Given the description of an element on the screen output the (x, y) to click on. 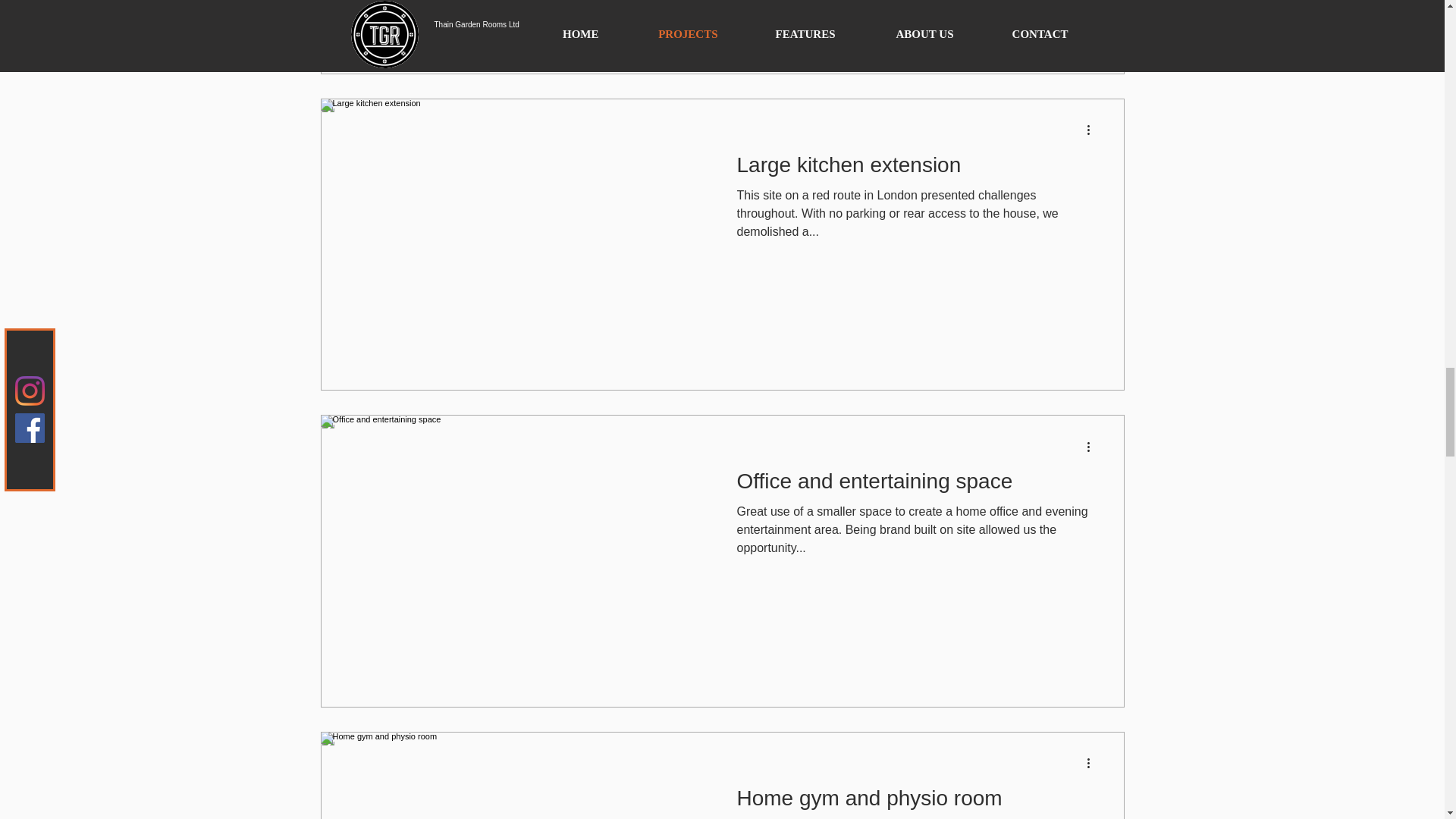
Home gym and physio room (916, 802)
Large kitchen extension (916, 168)
Office and entertaining space (916, 485)
